Given the description of an element on the screen output the (x, y) to click on. 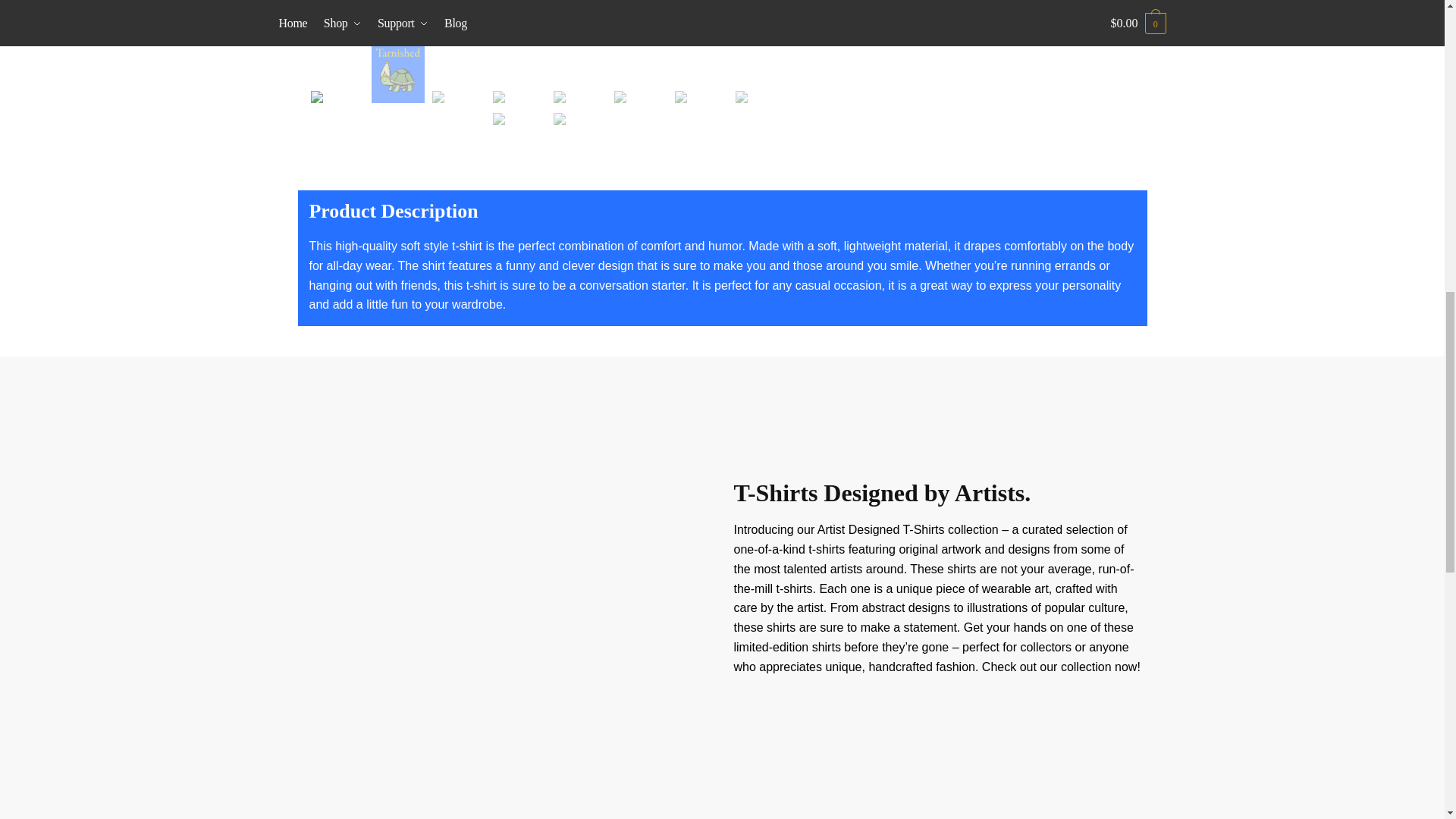
Mockups Design (548, 9)
